Given the description of an element on the screen output the (x, y) to click on. 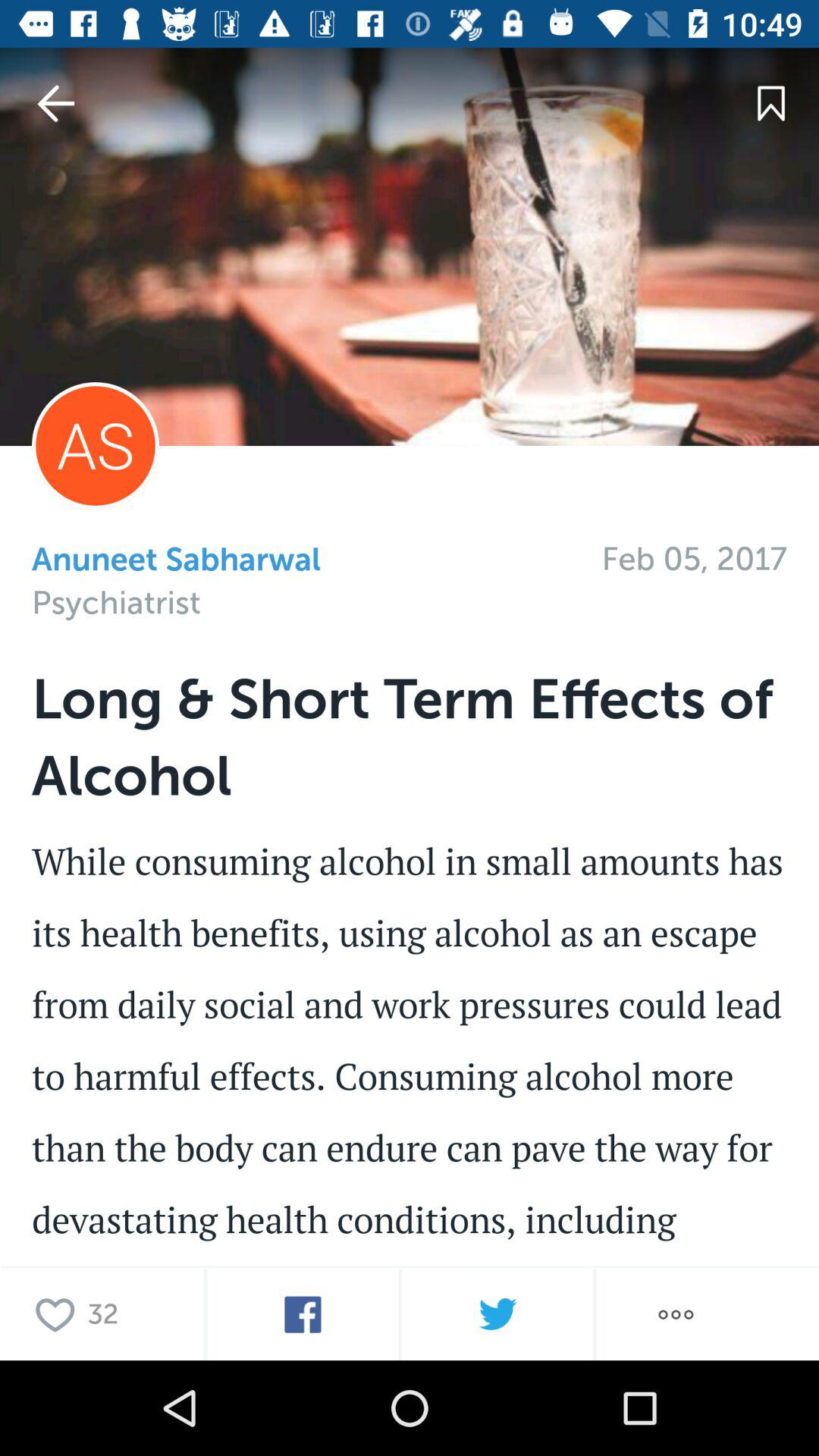
go to twitter profile (497, 1314)
